Given the description of an element on the screen output the (x, y) to click on. 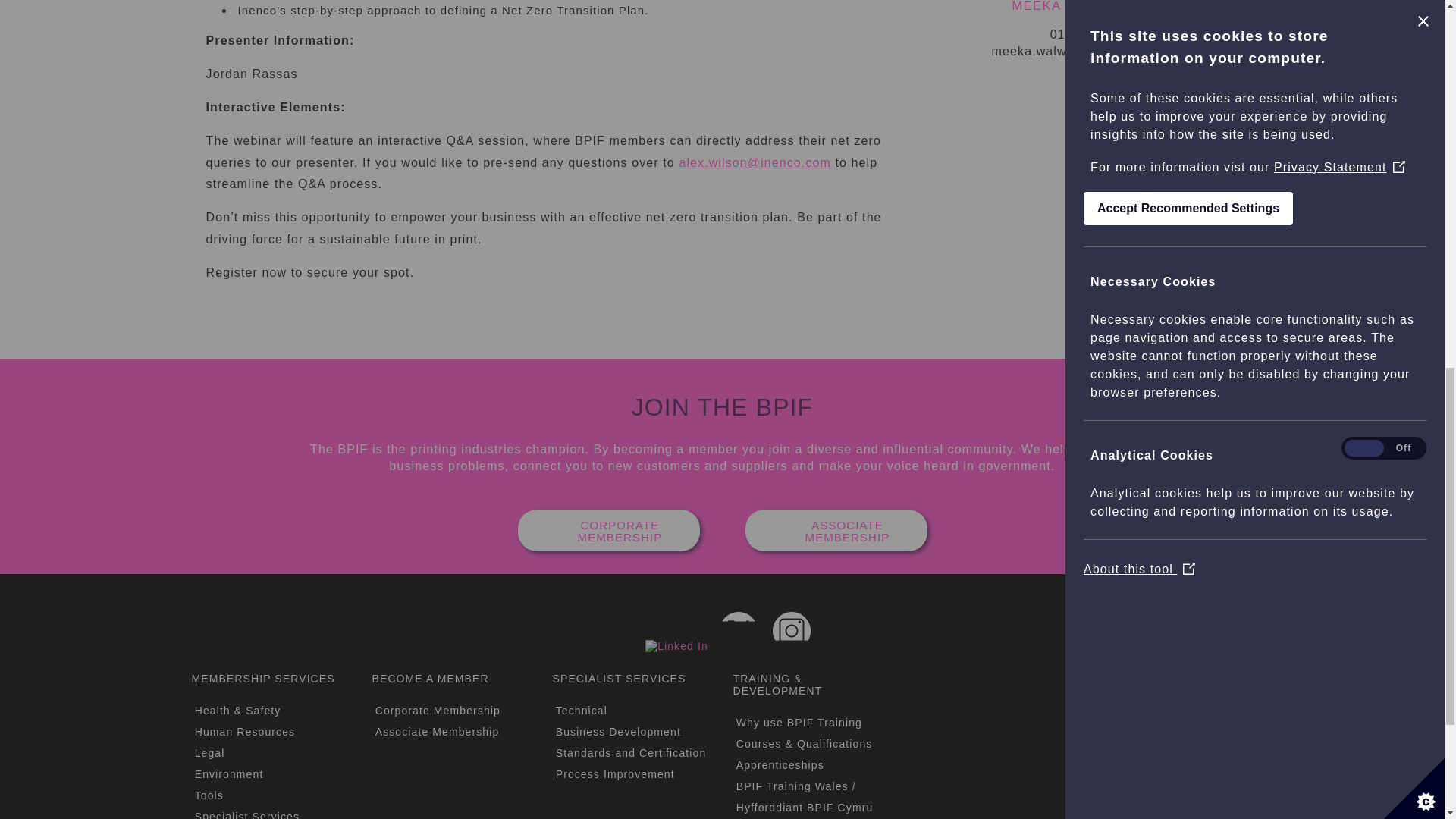
Linked In (676, 645)
Legal (210, 752)
Tools (209, 795)
Environment (229, 774)
Standards and Certification (631, 752)
Business Development (618, 731)
Twitter (738, 630)
Associate Membership (437, 731)
Human Resources (245, 731)
Corporate Membership (437, 710)
Technical (581, 710)
Specialist Services (247, 814)
